Given the description of an element on the screen output the (x, y) to click on. 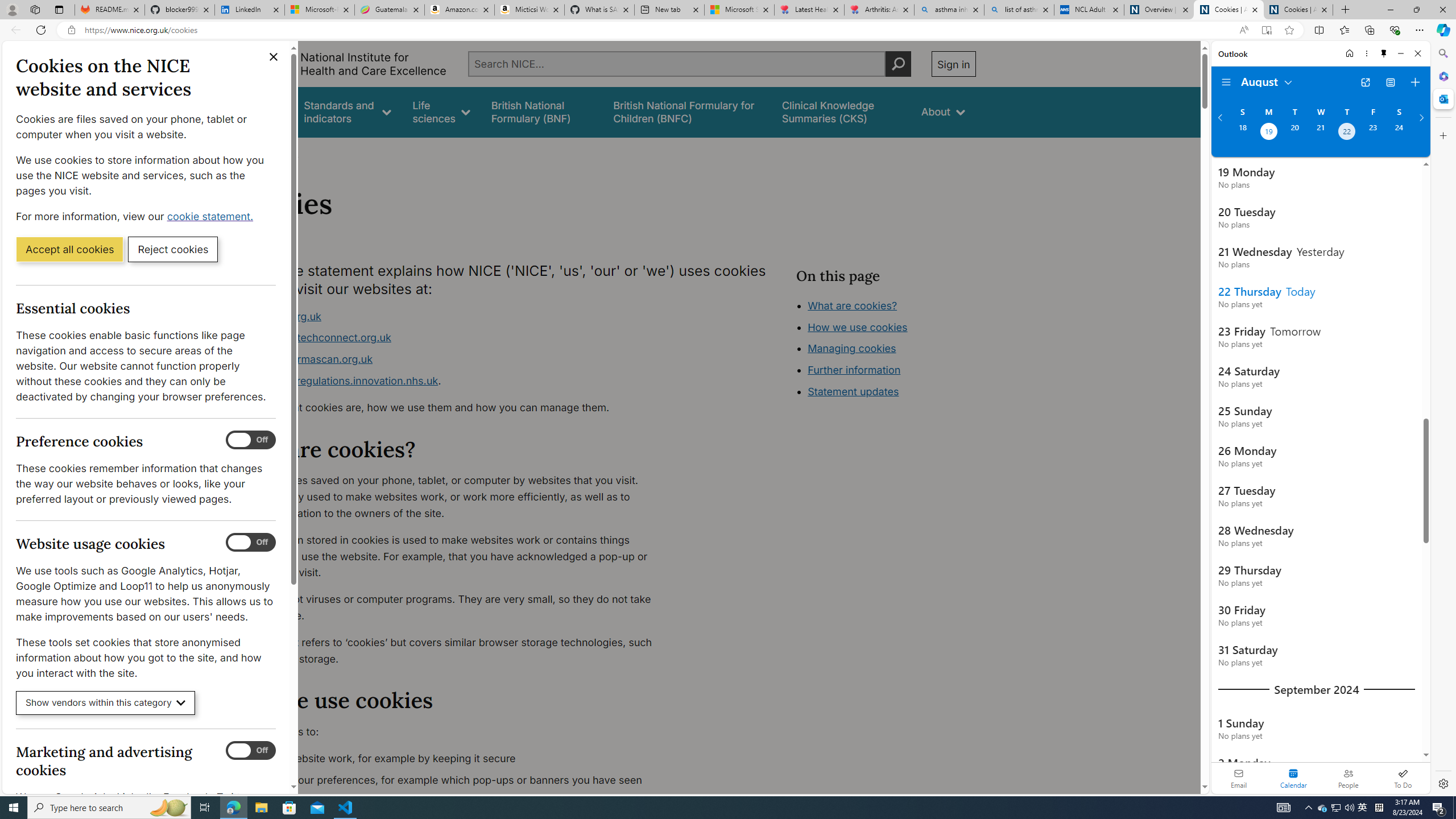
Back (13, 29)
Side bar (1443, 418)
Close (1417, 53)
Collections (1369, 29)
Refresh (40, 29)
Reject cookies (173, 248)
www.nice.org.uk (452, 316)
Website usage cookies (250, 542)
Thursday, August 22, 2024. Today.  (1346, 132)
www.nice.org.uk (279, 315)
Class: in-page-nav__list (884, 349)
